Given the description of an element on the screen output the (x, y) to click on. 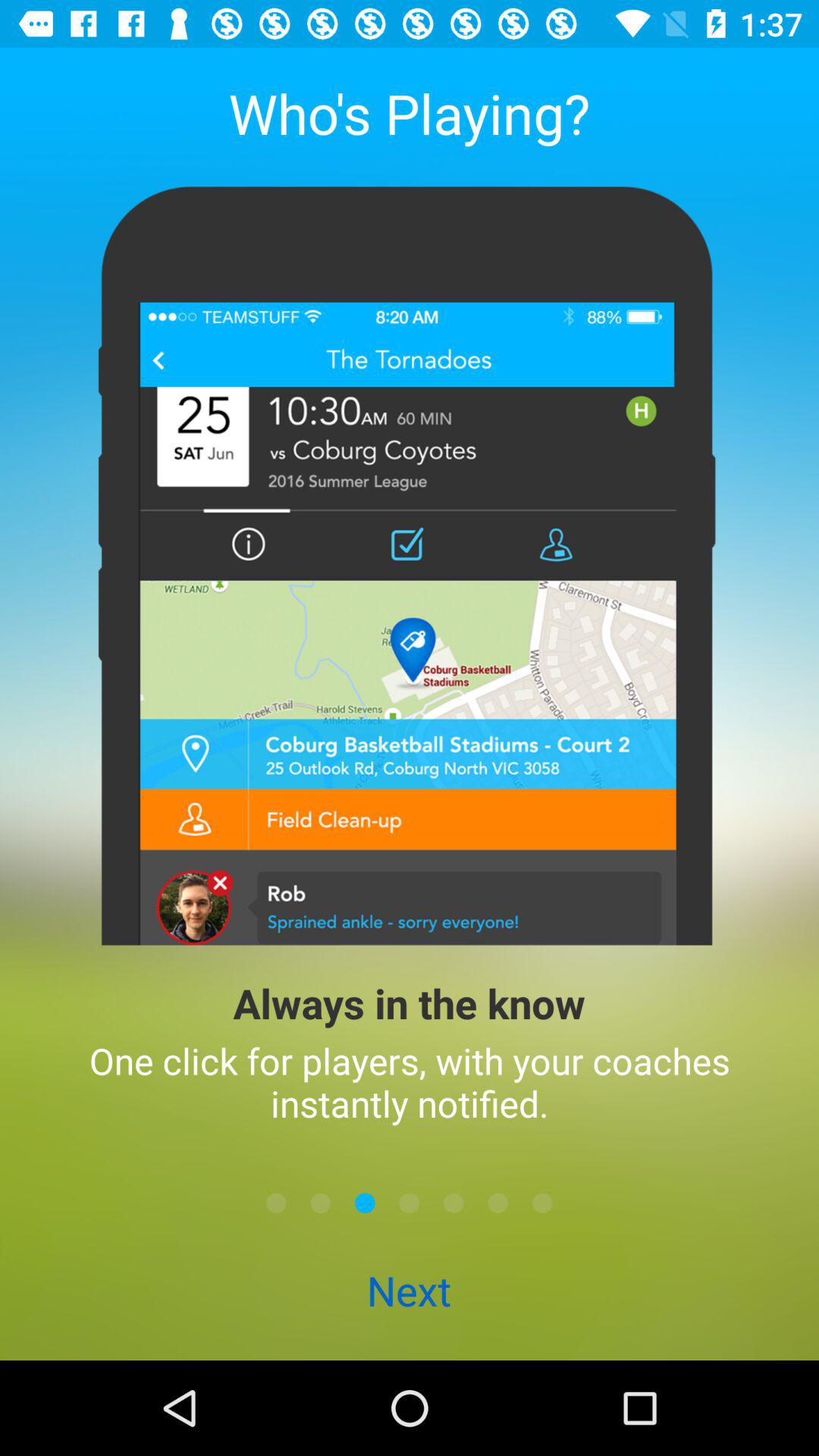
turn on the icon below the one click for item (542, 1203)
